Given the description of an element on the screen output the (x, y) to click on. 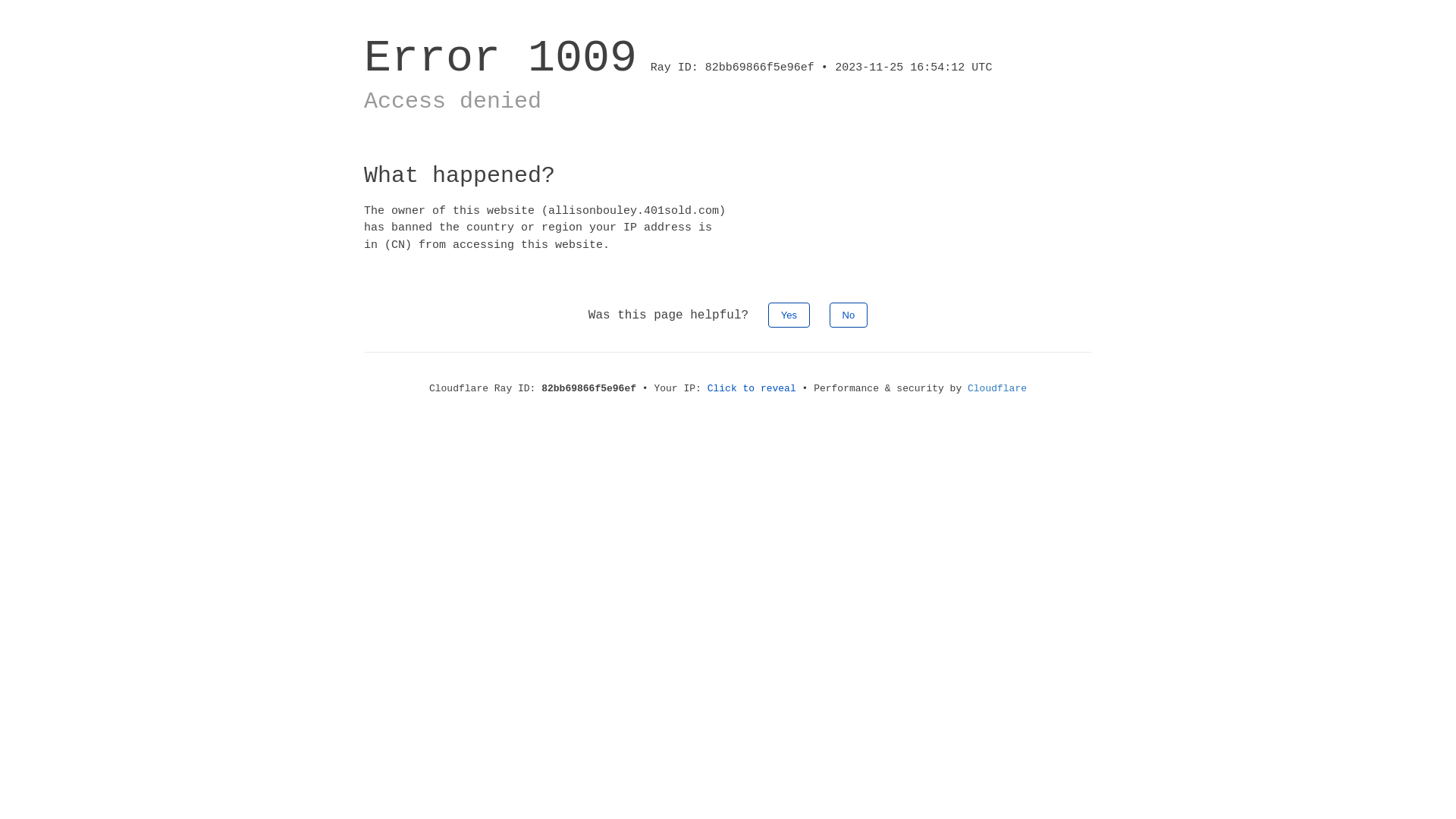
Click to reveal Element type: text (751, 388)
No Element type: text (848, 314)
Yes Element type: text (788, 314)
Cloudflare Element type: text (996, 388)
